Given the description of an element on the screen output the (x, y) to click on. 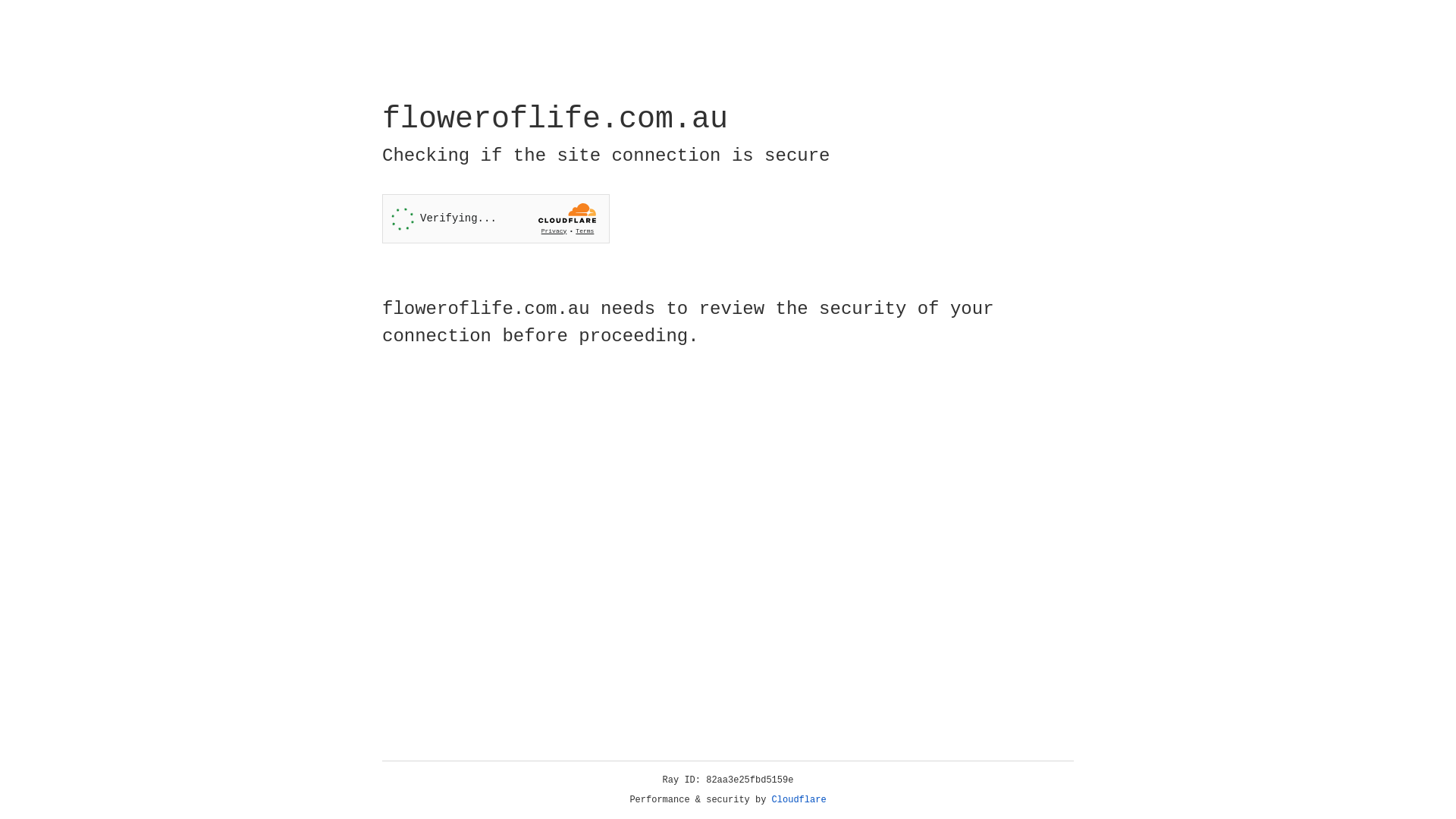
Cloudflare Element type: text (798, 799)
Widget containing a Cloudflare security challenge Element type: hover (495, 218)
